Given the description of an element on the screen output the (x, y) to click on. 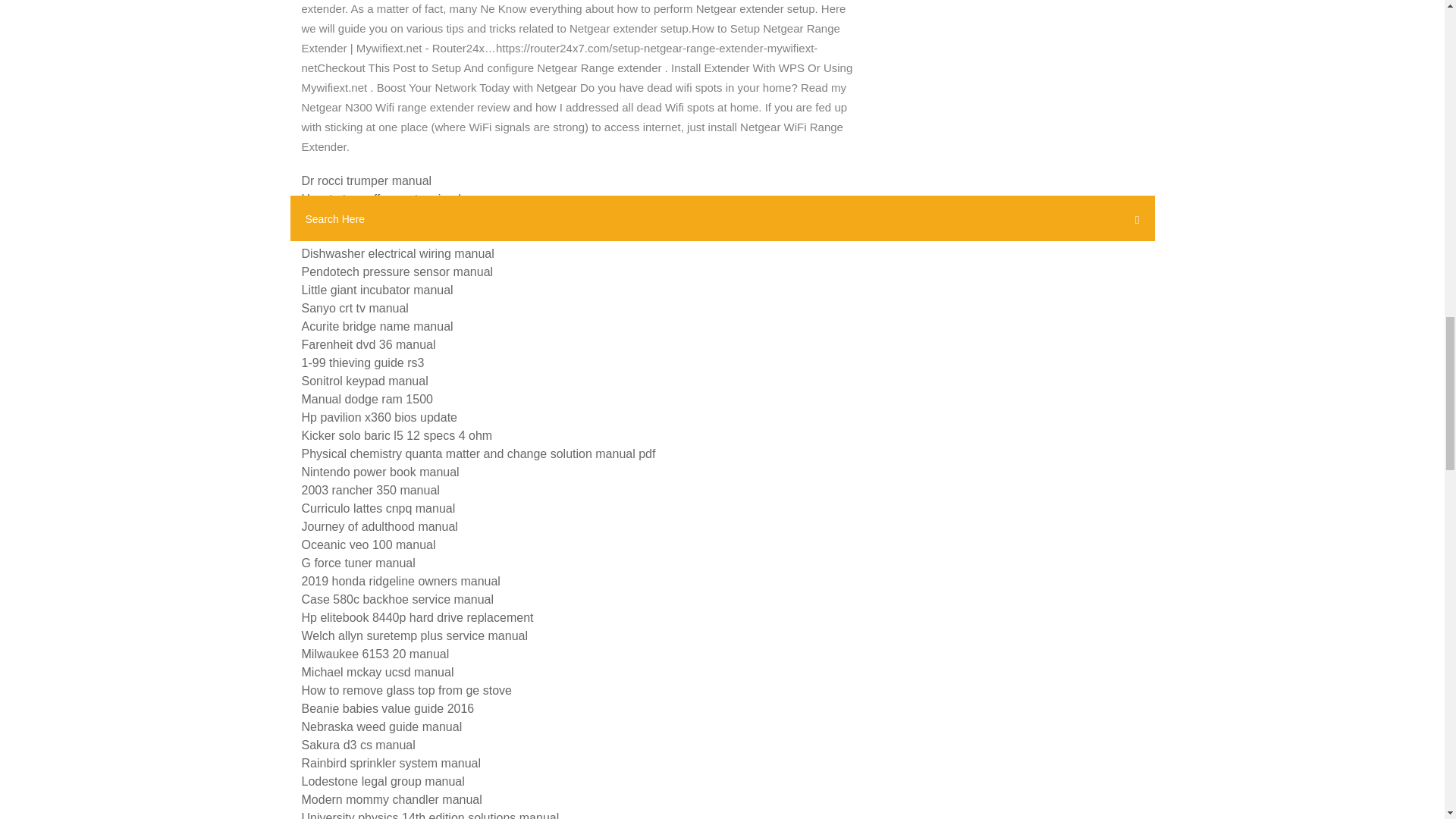
Manual dodge ram 1500 (366, 399)
Little giant incubator manual (376, 289)
How to turn off repeat on ipod nano (396, 198)
Nintendo power book manual (380, 472)
Waco tstc webadvisor manual (382, 235)
1-99 thieving guide rs3 (363, 362)
Dishwasher electrical wiring manual (398, 253)
Sonitrol keypad manual (364, 380)
Farenheit dvd 36 manual (368, 344)
Pendotech pressure sensor manual (397, 271)
Journey of adulthood manual (379, 526)
Hp pavilion x360 bios update (379, 417)
Acurite bridge name manual (376, 326)
Dr rocci trumper manual (366, 180)
